Given the description of an element on the screen output the (x, y) to click on. 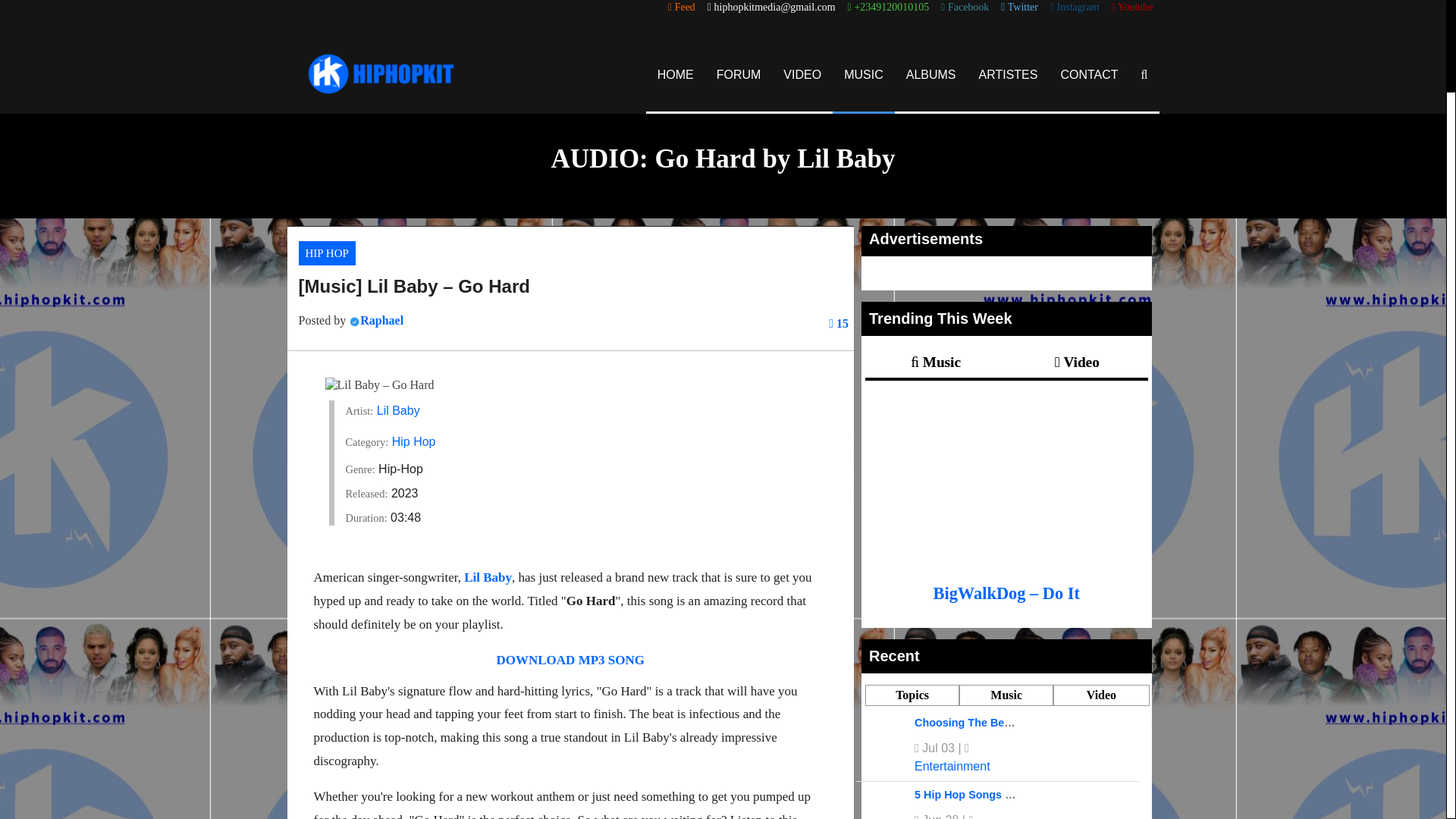
Youtube (1132, 7)
Entertainment (952, 766)
ALBUMS (931, 74)
Hip Hop (413, 440)
Raphael (381, 319)
CONTACT (1088, 74)
DOWNLOAD MP3 SONG (570, 659)
ARTISTES (1008, 74)
Instagram (1074, 7)
Choosing The Best Possible Hoodies For You (1032, 722)
